Given the description of an element on the screen output the (x, y) to click on. 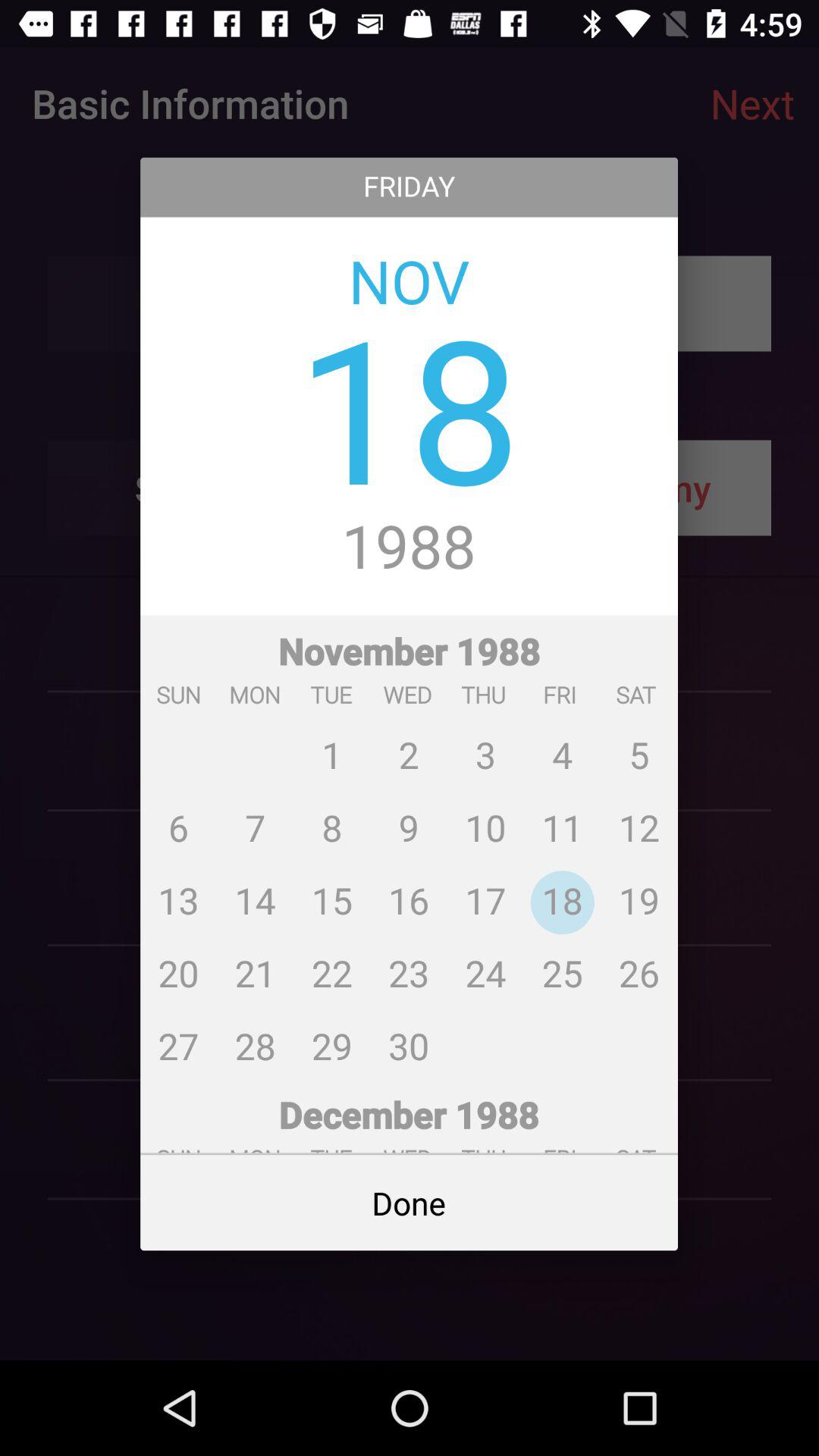
swipe until 1988 item (408, 548)
